Given the description of an element on the screen output the (x, y) to click on. 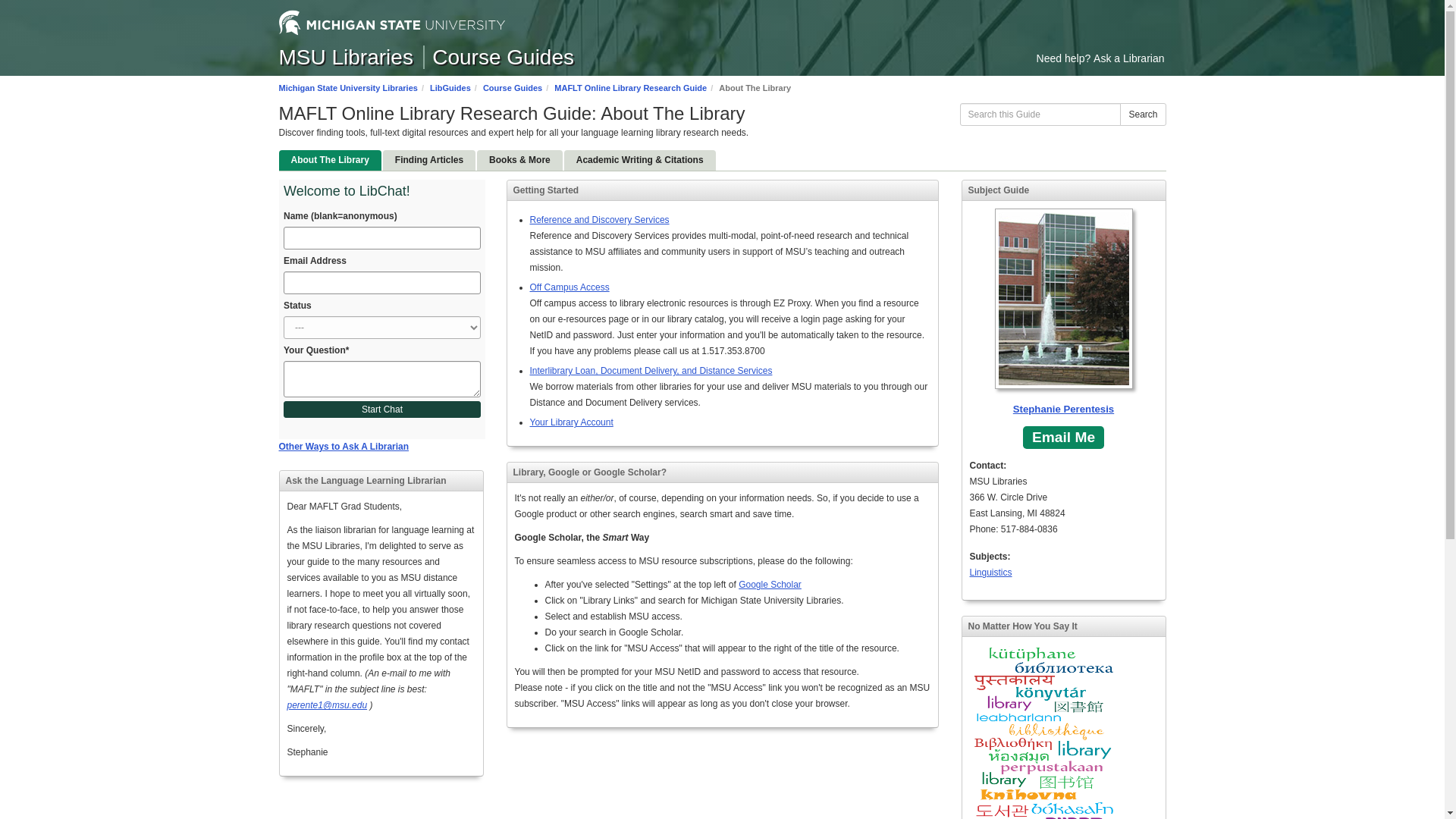
Ask a Librarian (1128, 58)
Course Guides (498, 56)
LibGuides (449, 87)
Finding Articles (429, 159)
Other Ways to Ask A Librarian (344, 446)
Your Library Account (570, 421)
MAFLT Online Library Research Guide (630, 87)
Search (1142, 114)
Off Campus Access (568, 286)
Michigan State University Libraries (348, 87)
Interlibrary Loan, Document Delivery, and Distance Services (650, 370)
Google Scholar (770, 584)
Stephanie Perentesis (1063, 312)
Course Guides (512, 87)
Email Me (1063, 437)
